Given the description of an element on the screen output the (x, y) to click on. 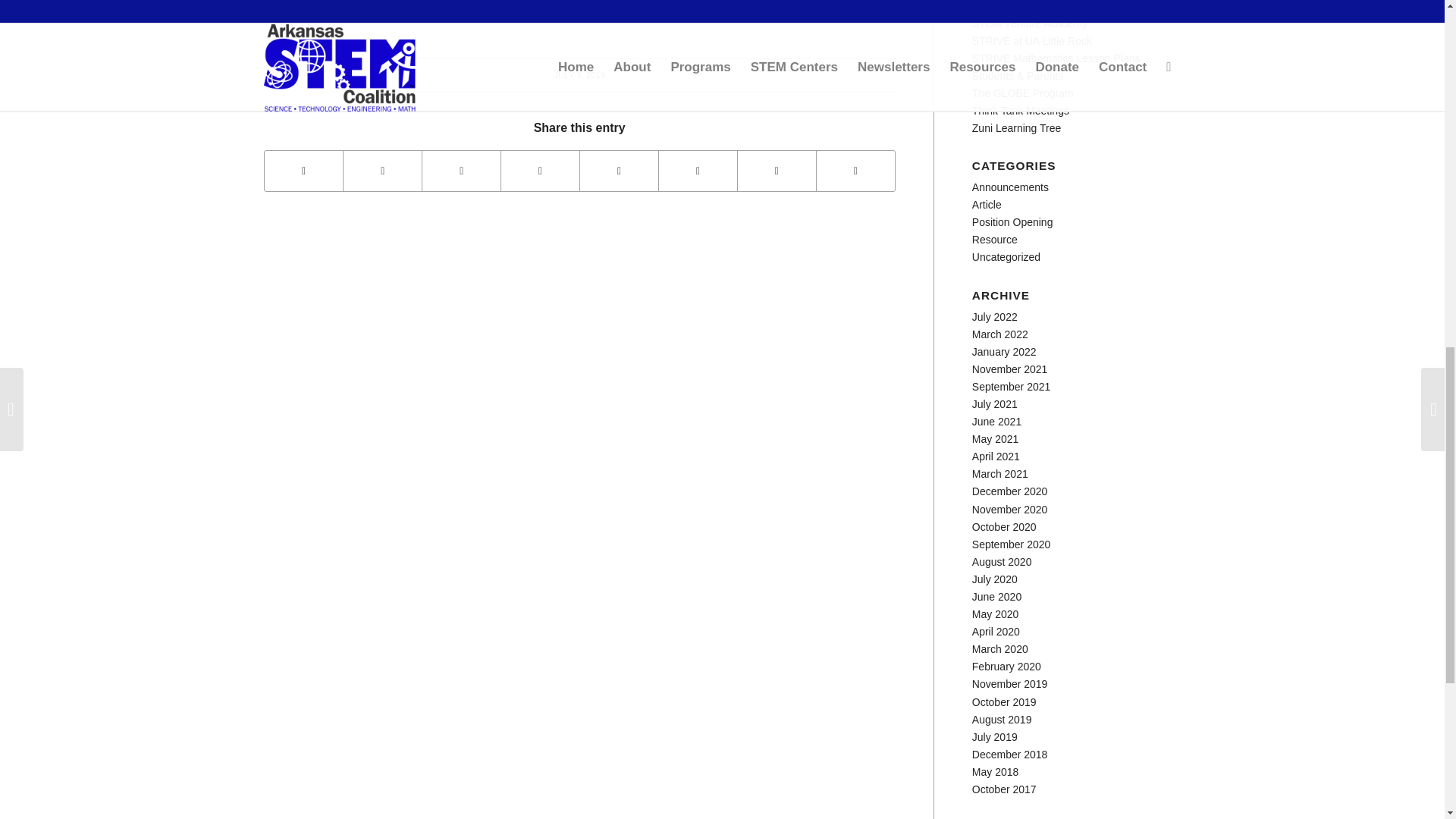
Copyright 2019 KAIT. All rights reserved. (358, 15)
